Given the description of an element on the screen output the (x, y) to click on. 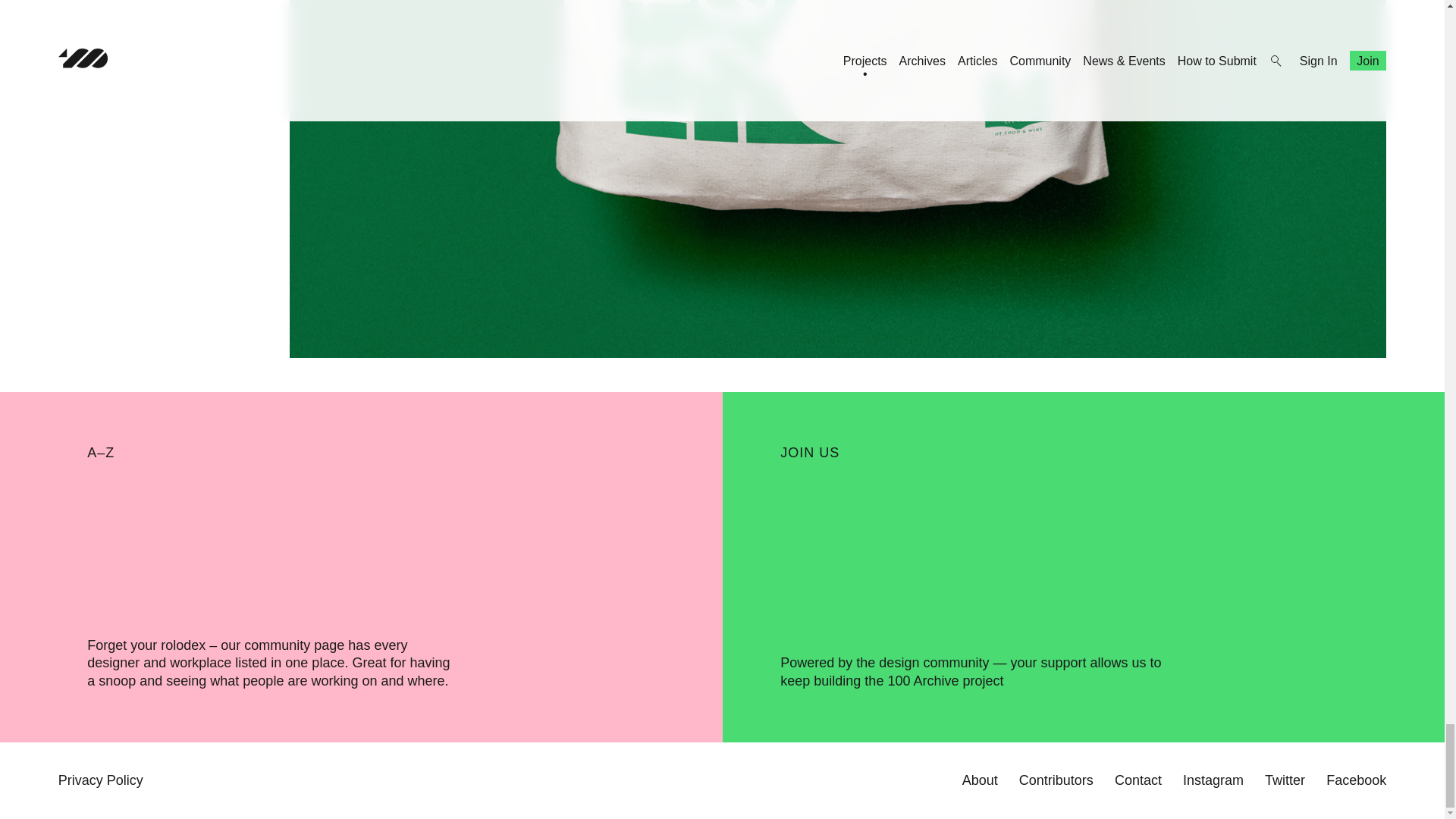
Contact (1138, 780)
Privacy Policy (100, 780)
Contributors (1056, 780)
Instagram (1212, 780)
Twitter (1284, 780)
Facebook (1356, 780)
About (979, 780)
